Given the description of an element on the screen output the (x, y) to click on. 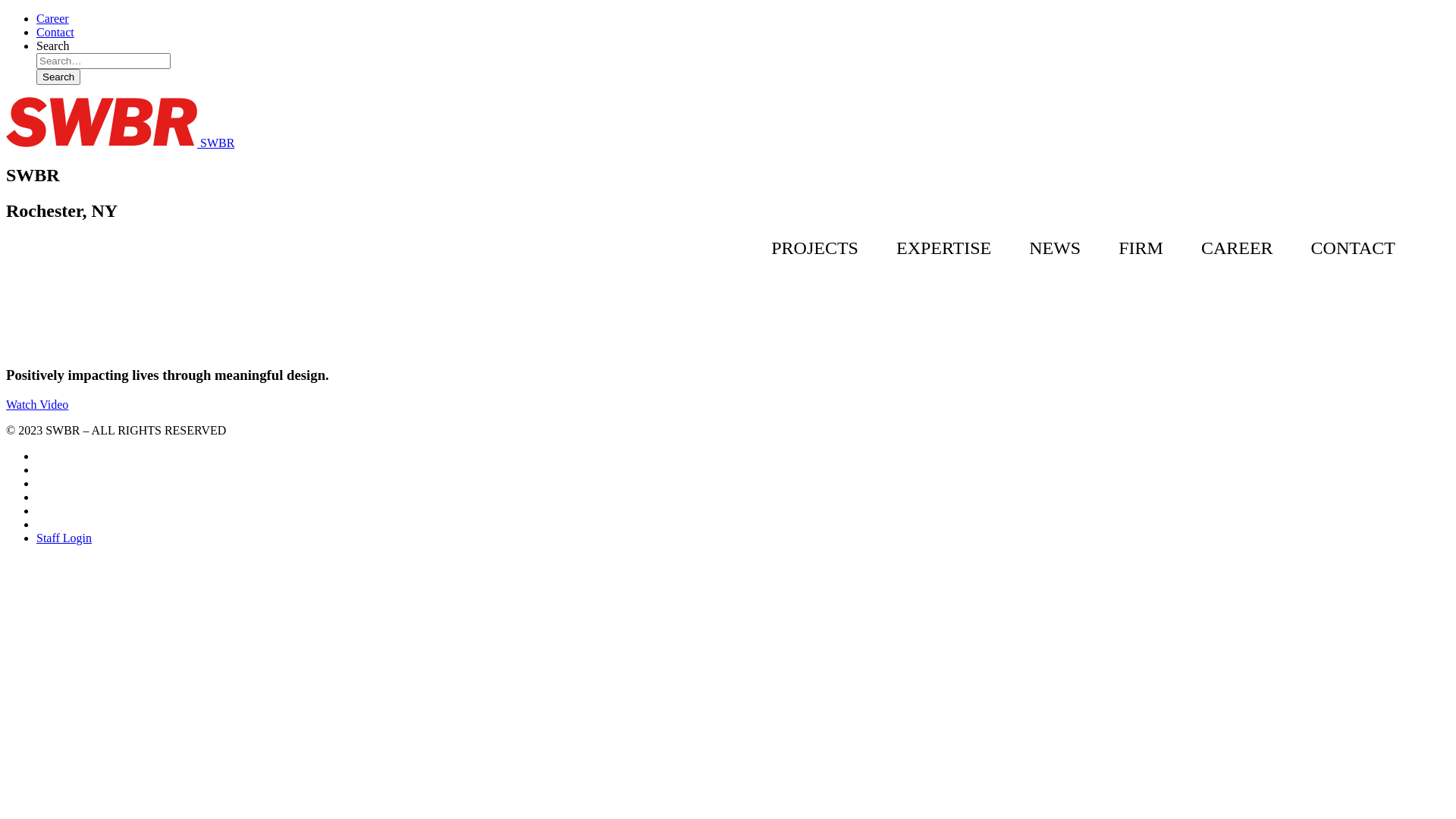
EXPERTISE Element type: text (943, 247)
Contact Element type: text (55, 31)
Watch Video Element type: text (37, 404)
CAREER Element type: text (1236, 247)
SWBR Element type: text (120, 142)
SWBR Background Showreel Video Element type: hover (119, 293)
Career Element type: text (52, 18)
NEWS Element type: text (1054, 247)
FIRM Element type: text (1140, 247)
Search Element type: text (58, 76)
PROJECTS Element type: text (814, 247)
CONTACT Element type: text (1352, 247)
Staff Login Element type: text (63, 537)
